Given the description of an element on the screen output the (x, y) to click on. 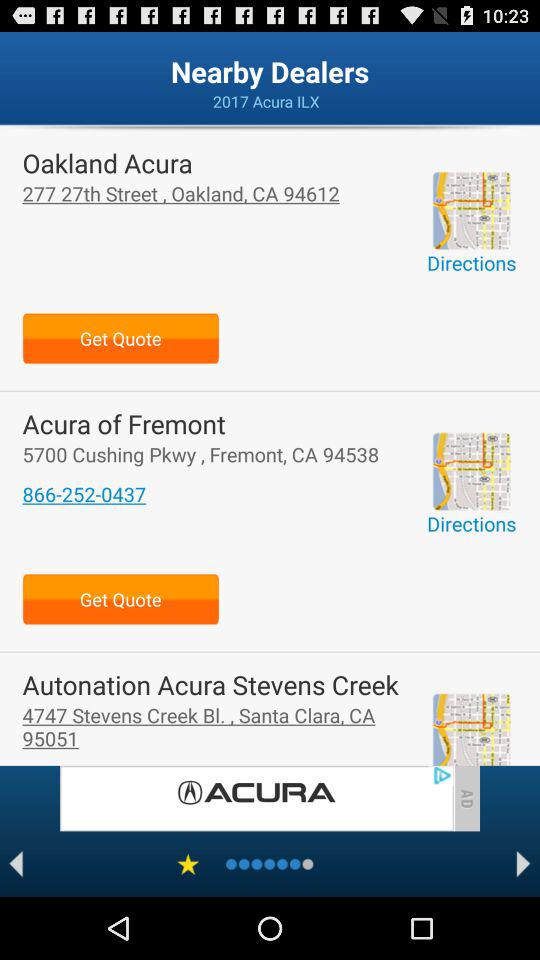
view the advertisement (256, 798)
